Given the description of an element on the screen output the (x, y) to click on. 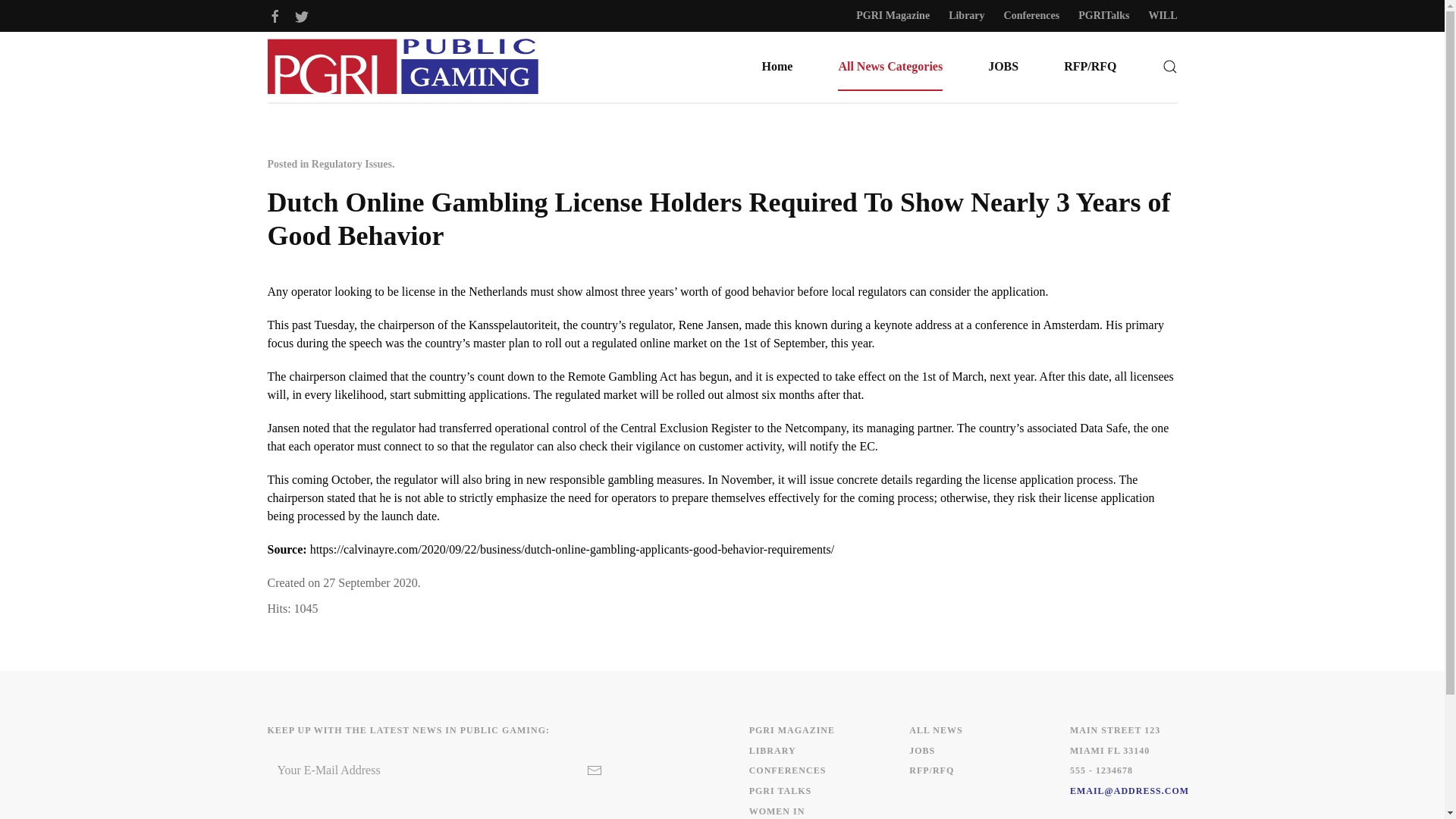
PGRI Magazine (893, 15)
Netherlands online casinos (497, 291)
Home (777, 66)
All News Categories (890, 66)
PGRITalks (1103, 15)
WILL (1162, 15)
Library (966, 15)
Conferences (1031, 15)
